Given the description of an element on the screen output the (x, y) to click on. 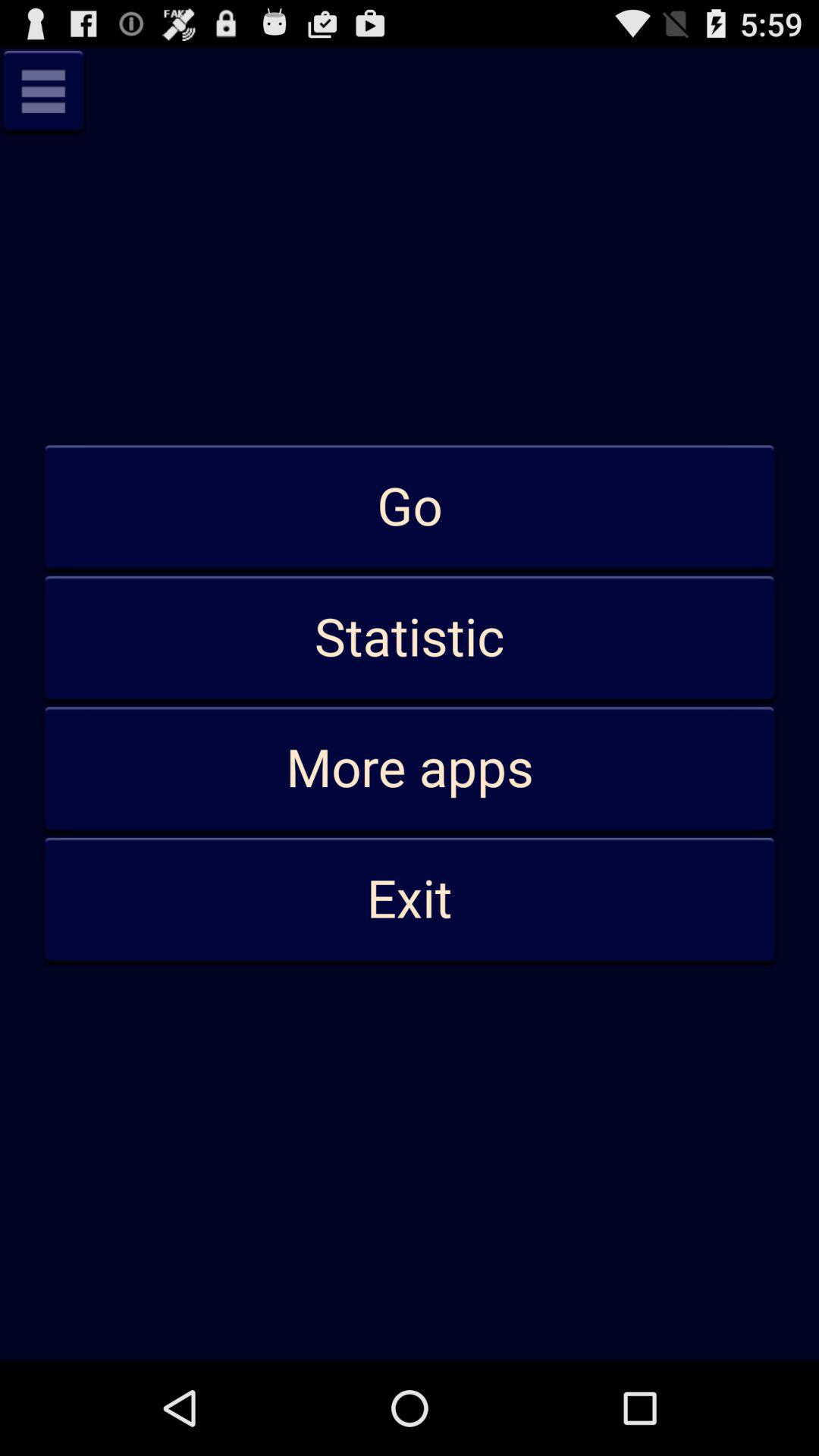
click menu option (43, 90)
